Given the description of an element on the screen output the (x, y) to click on. 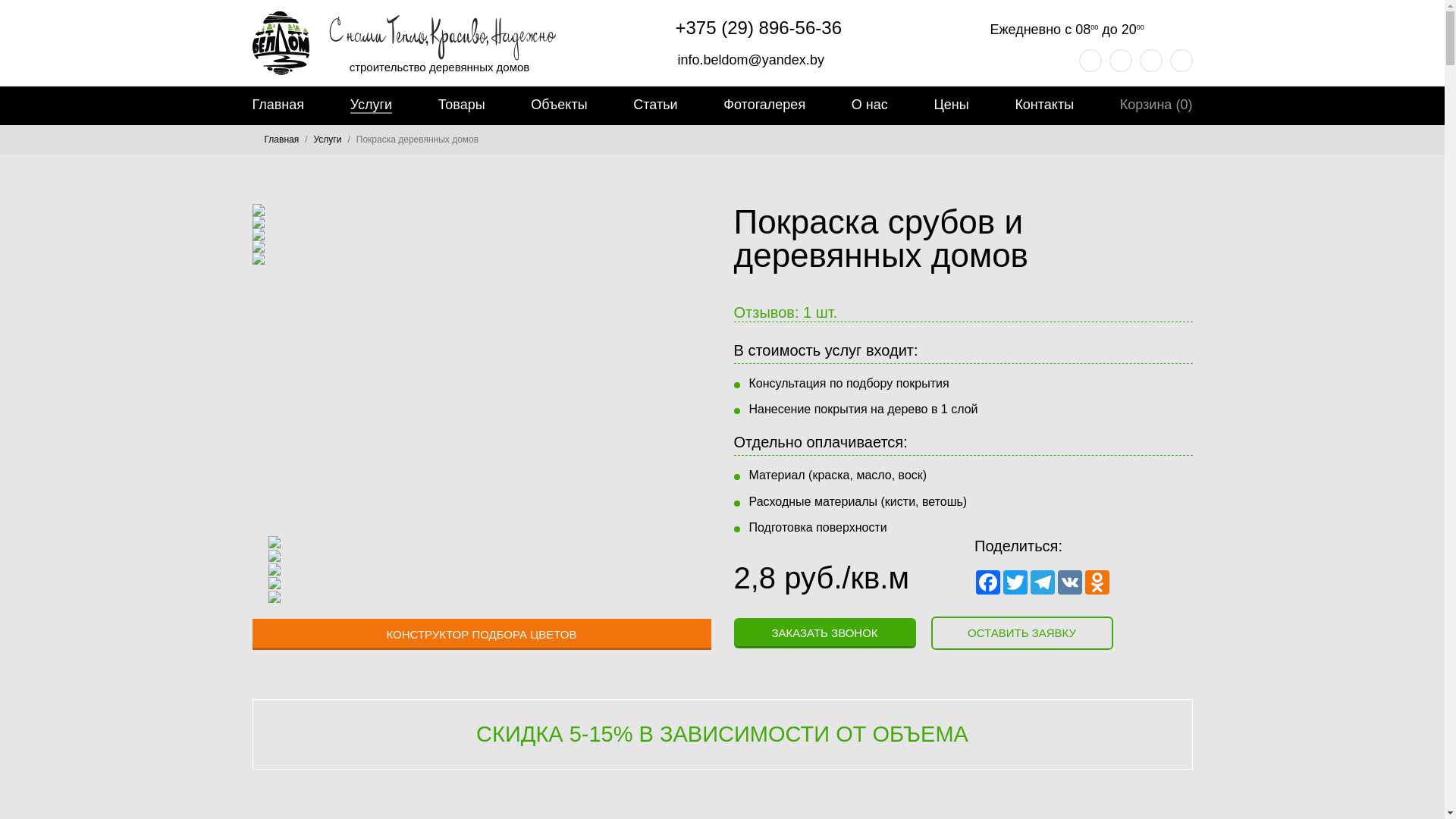
+375 (29) 896-56-36 Element type: text (746, 27)
Telegram Element type: text (1042, 582)
Odnoklassniki Element type: text (1096, 582)
VK Element type: text (1069, 582)
Facebook Element type: text (987, 582)
Twitter Element type: text (1015, 582)
info.beldom@yandex.by Element type: text (737, 59)
